Given the description of an element on the screen output the (x, y) to click on. 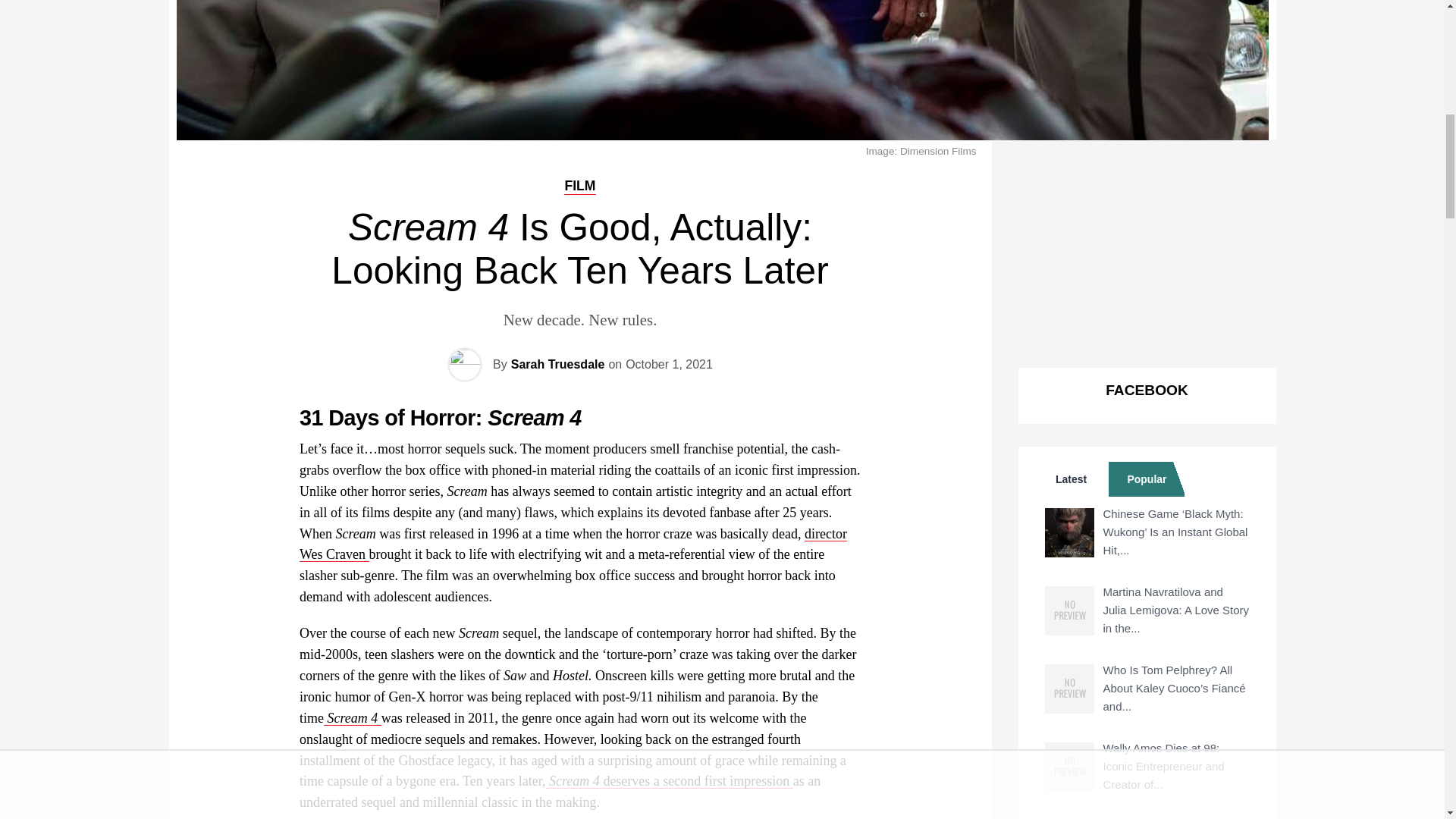
FILM (579, 185)
director Wes Craven (573, 544)
 Scream 4 deserves a second first impression (669, 780)
Sarah Truesdale (558, 364)
 Scream 4  (352, 717)
Posts by Sarah Truesdale (558, 364)
